Given the description of an element on the screen output the (x, y) to click on. 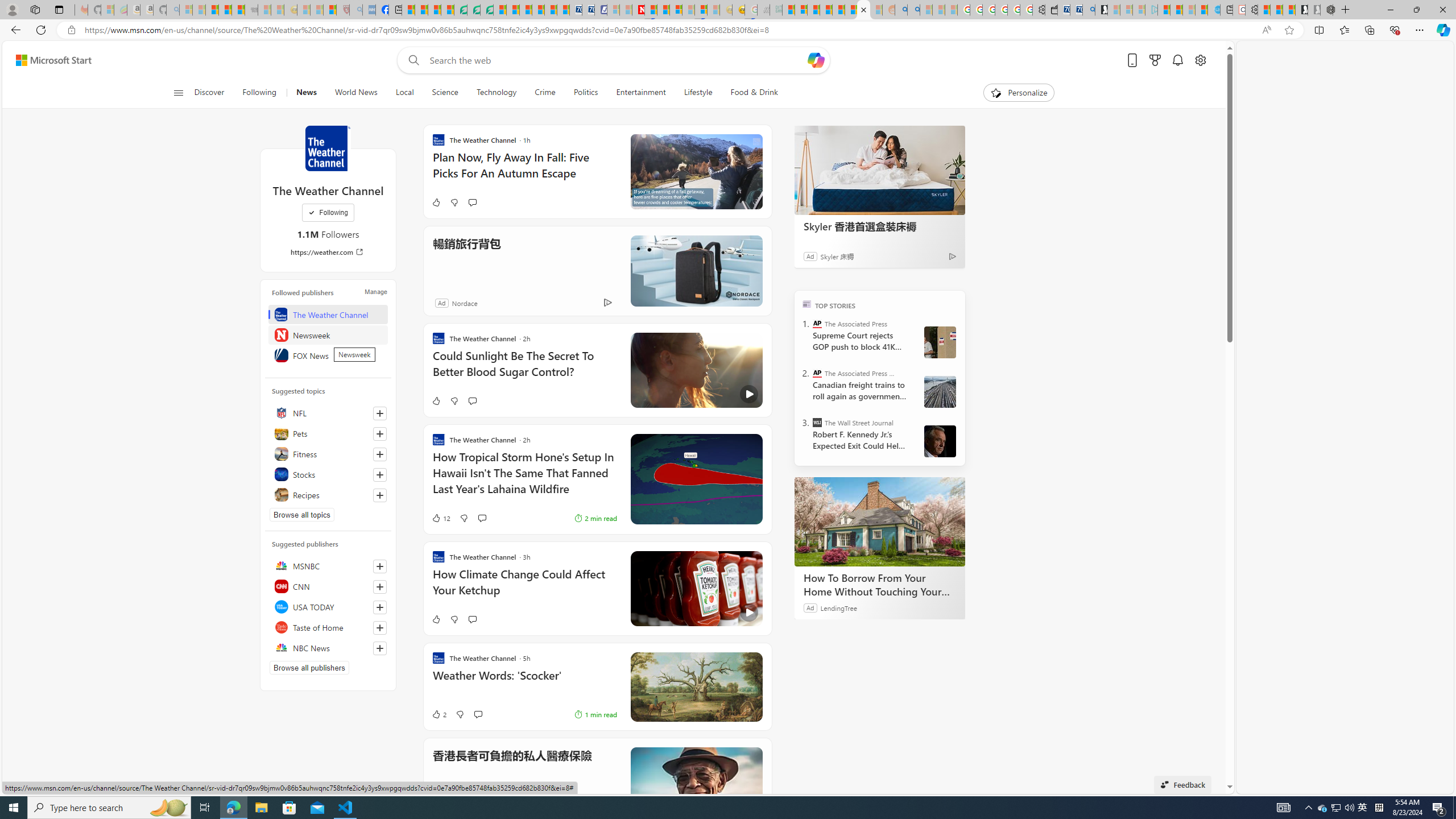
Browse all publishers (309, 667)
Browse all topics (301, 514)
Pets (327, 433)
Stocks (327, 474)
